Given the description of an element on the screen output the (x, y) to click on. 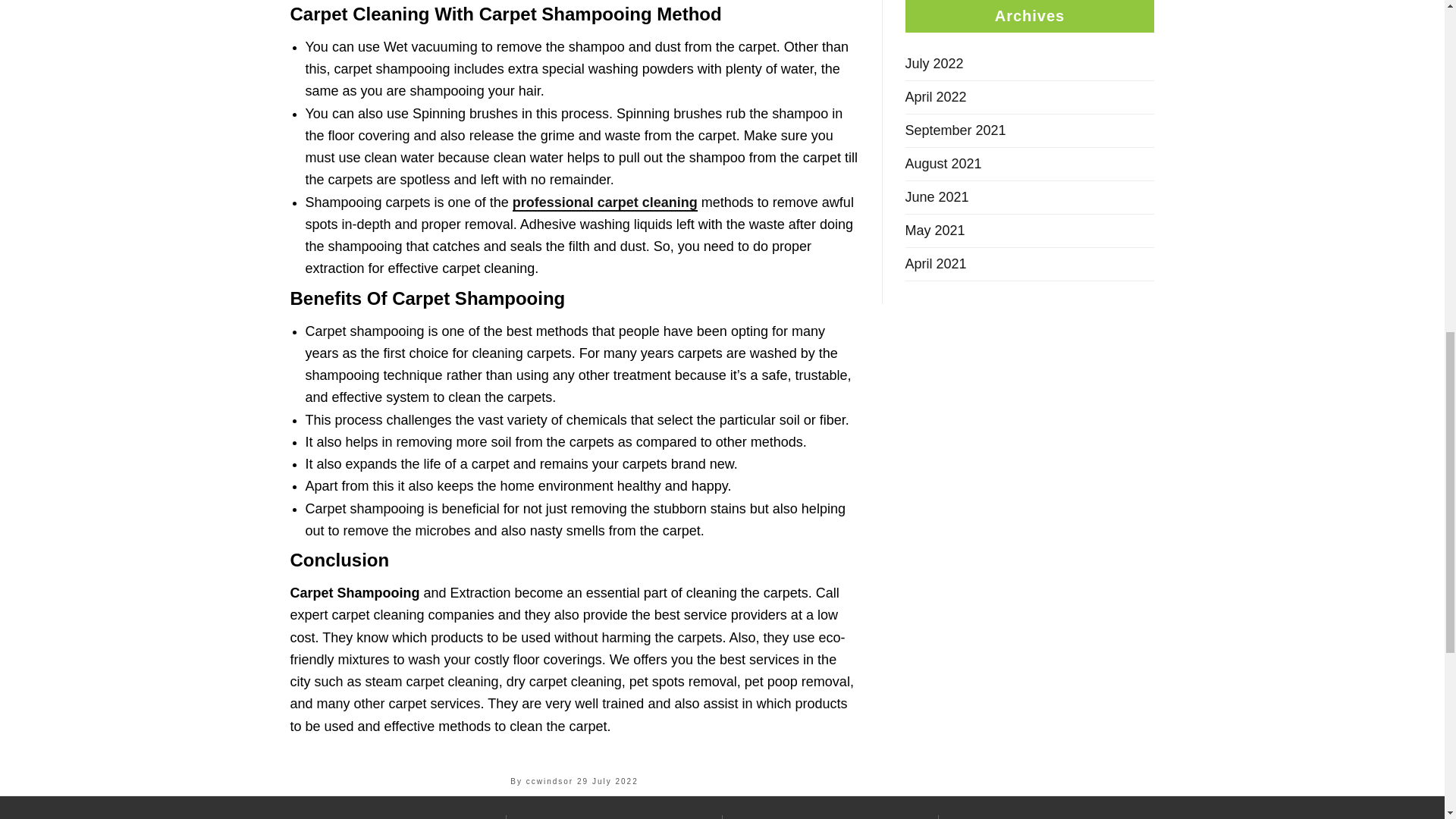
September 2021 (1029, 130)
May 2021 (1029, 230)
June 2021 (1029, 196)
April 2021 (1029, 263)
April 2022 (1029, 96)
July 2022 (1029, 63)
professional carpet cleaning (604, 202)
August 2021 (1029, 163)
